Given the description of an element on the screen output the (x, y) to click on. 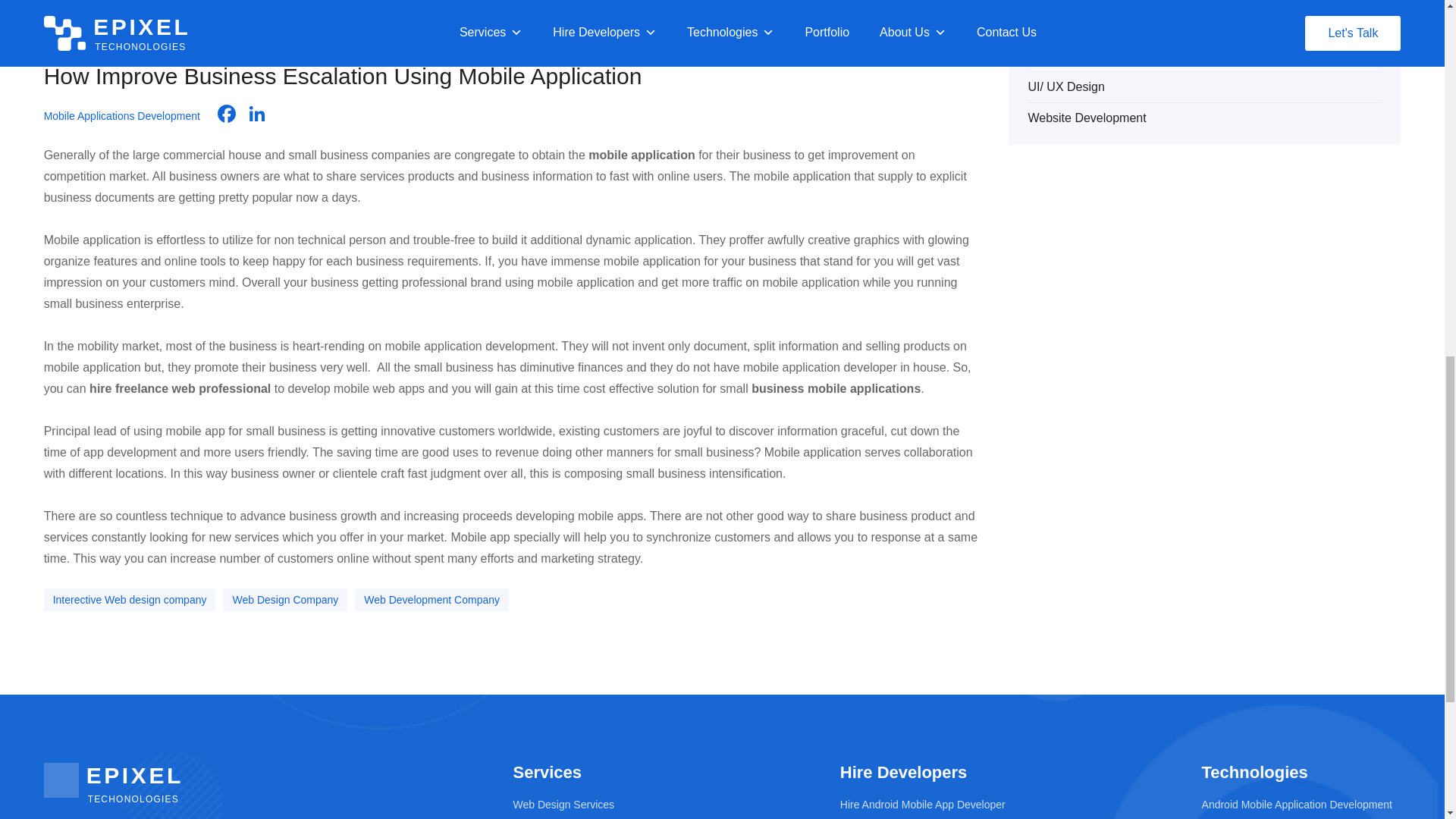
Facebook (226, 115)
LinkedIn (256, 115)
